Given the description of an element on the screen output the (x, y) to click on. 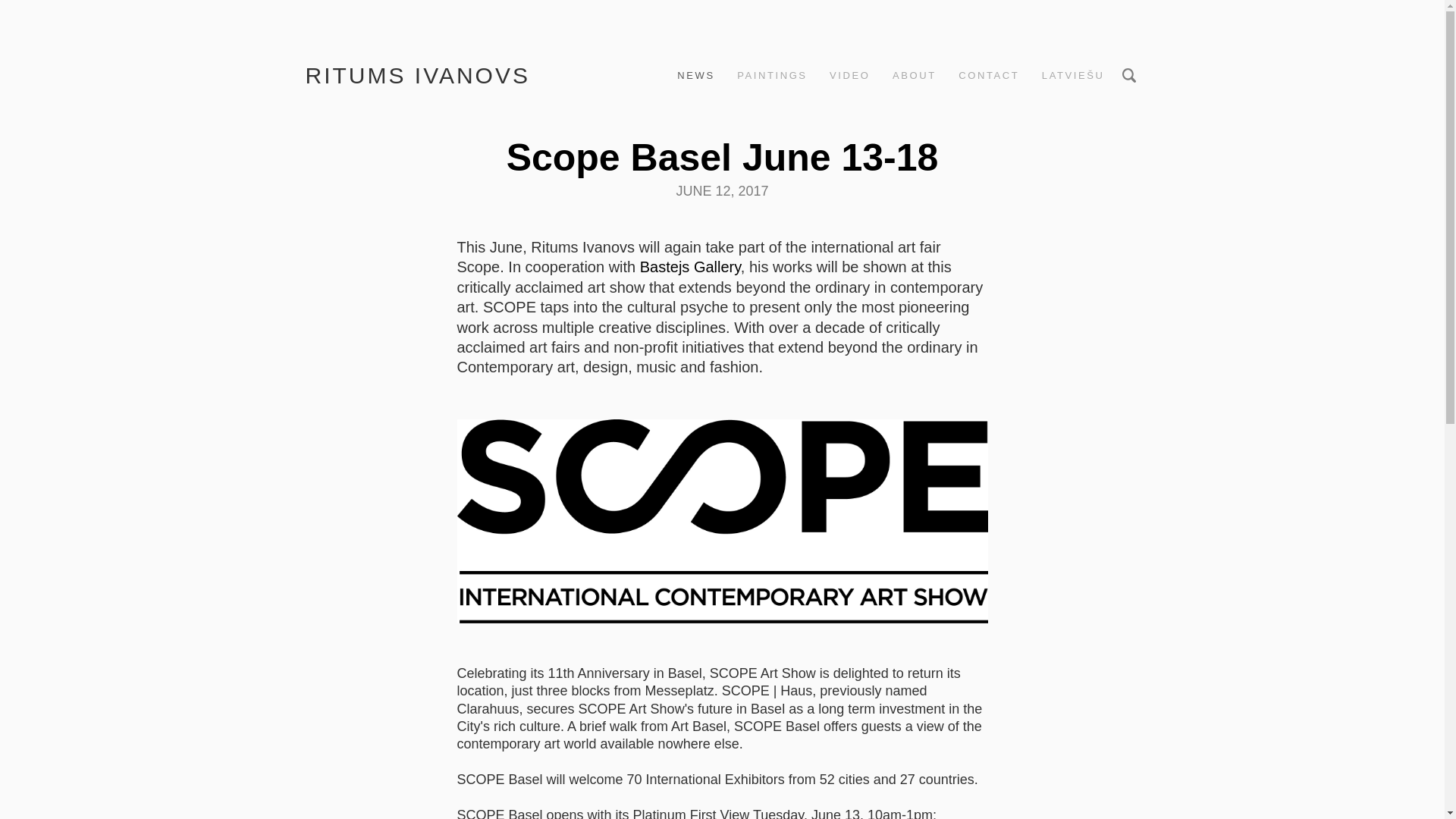
ABOUT (914, 75)
Bastejs Gallery (690, 266)
VIDEO (849, 75)
NEWS (694, 75)
CONTACT (989, 75)
PAINTINGS (771, 75)
RITUMS IVANOVS (416, 75)
